Given the description of an element on the screen output the (x, y) to click on. 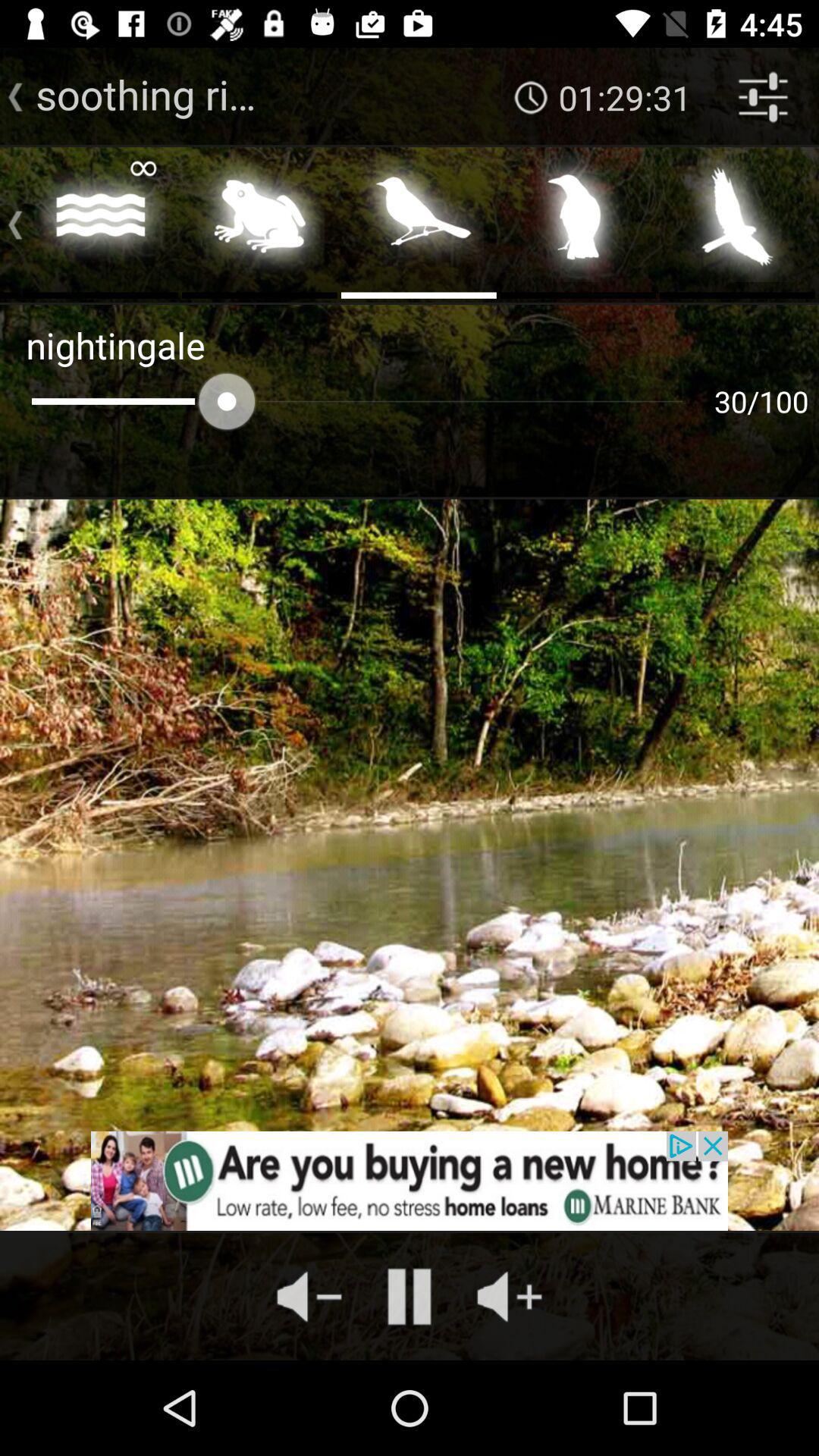
more options (9, 221)
